Given the description of an element on the screen output the (x, y) to click on. 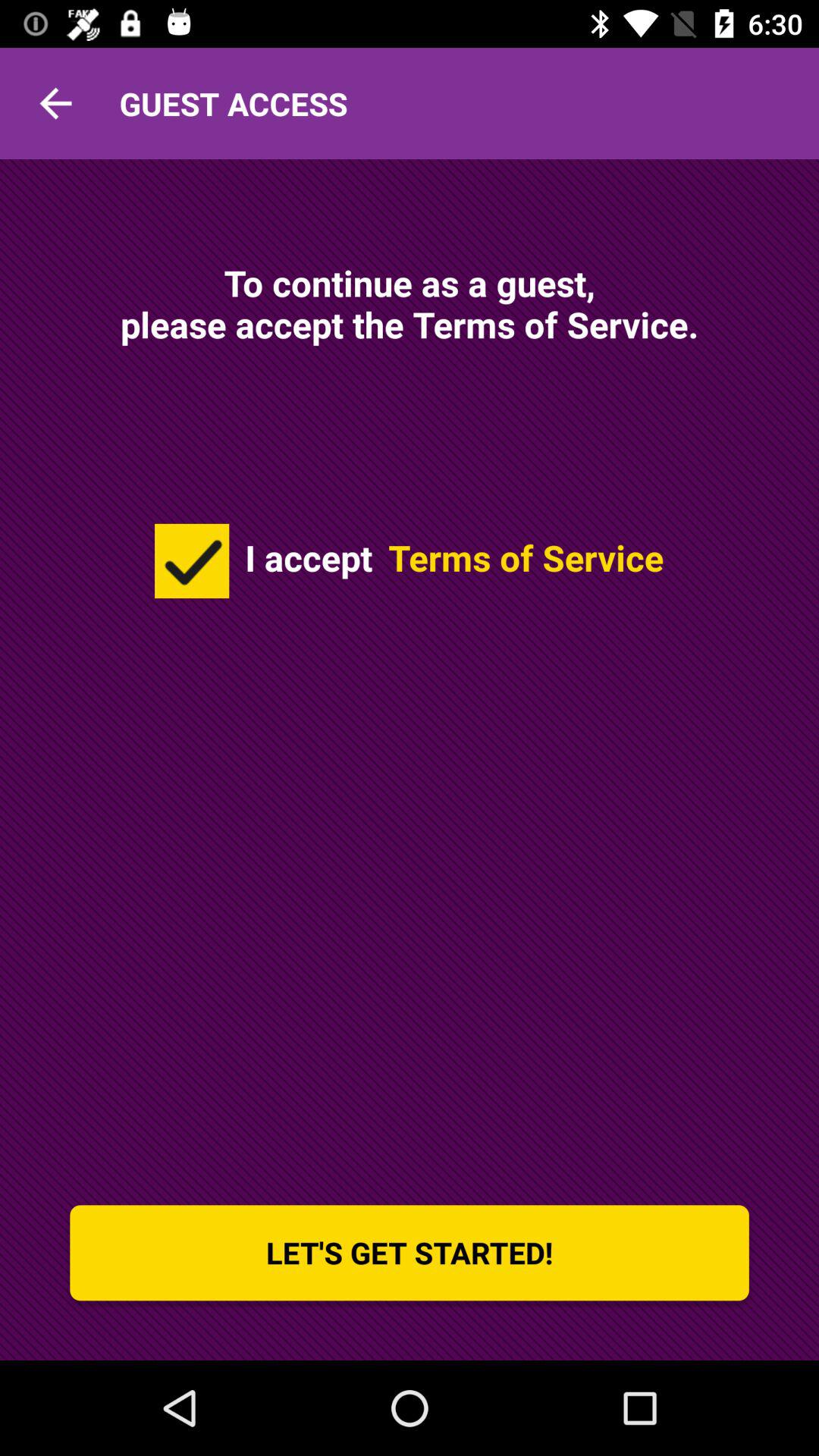
turn off the item above to continue as icon (55, 103)
